Given the description of an element on the screen output the (x, y) to click on. 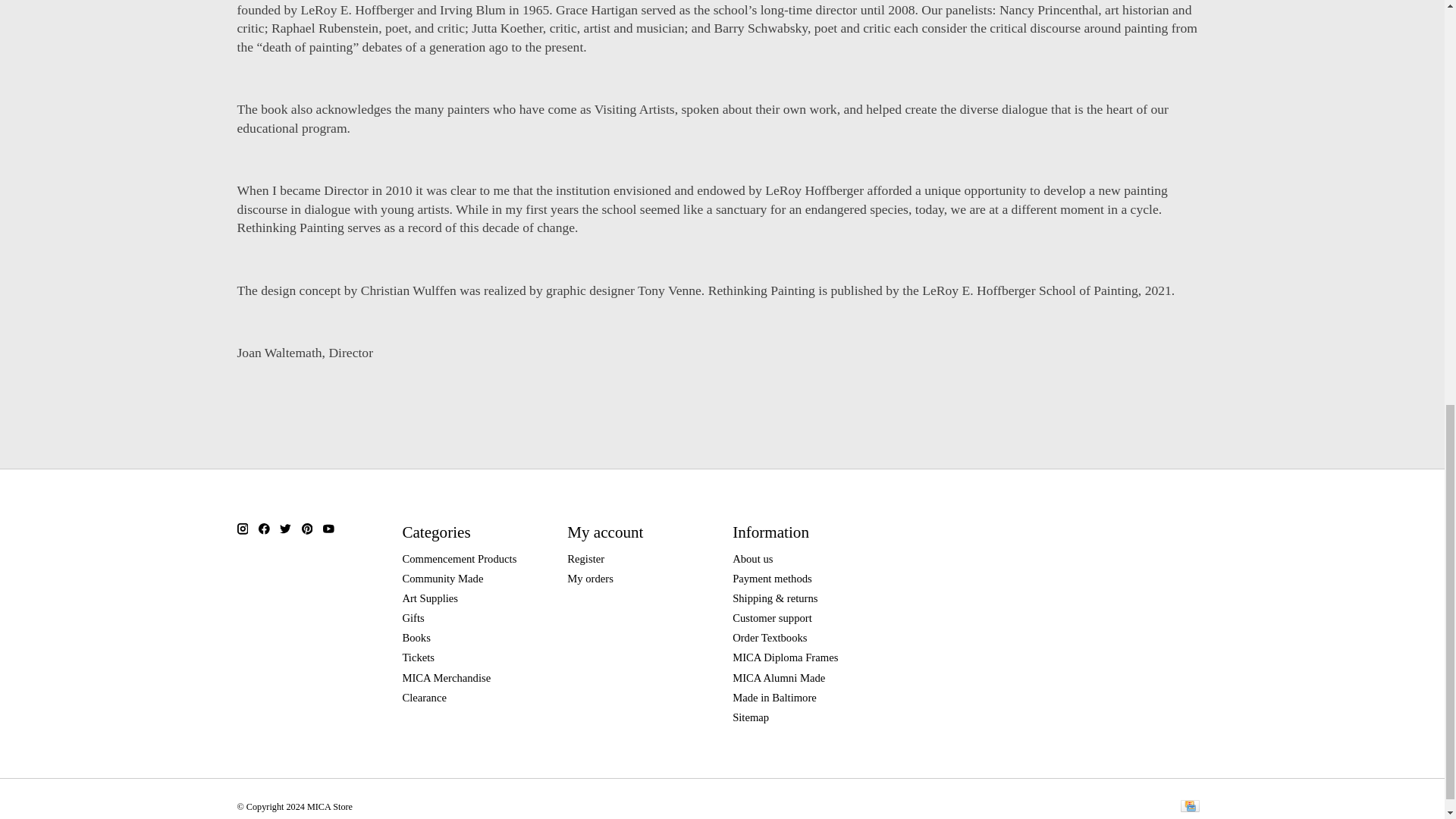
Payment methods (772, 578)
Made in Baltimore (774, 697)
Credit Card (1188, 807)
Sitemap (750, 717)
MICA Diploma Frames (785, 657)
MICA Alumni Made (778, 677)
My orders (589, 578)
Customer support (772, 617)
Register (585, 558)
About us (752, 558)
Order Textbooks (769, 637)
